Given the description of an element on the screen output the (x, y) to click on. 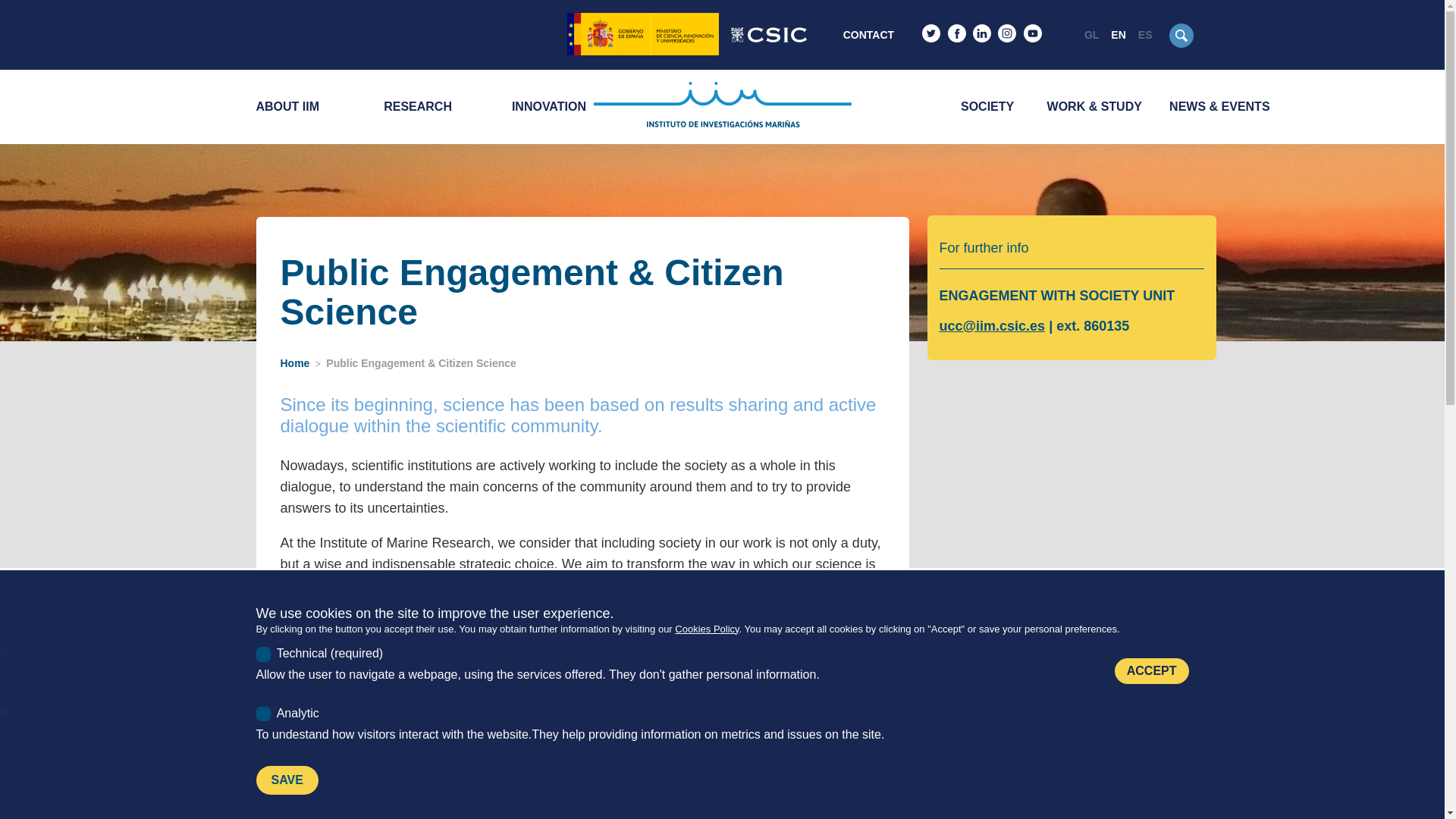
tecnicas (5, 651)
analiticas (5, 710)
